Given the description of an element on the screen output the (x, y) to click on. 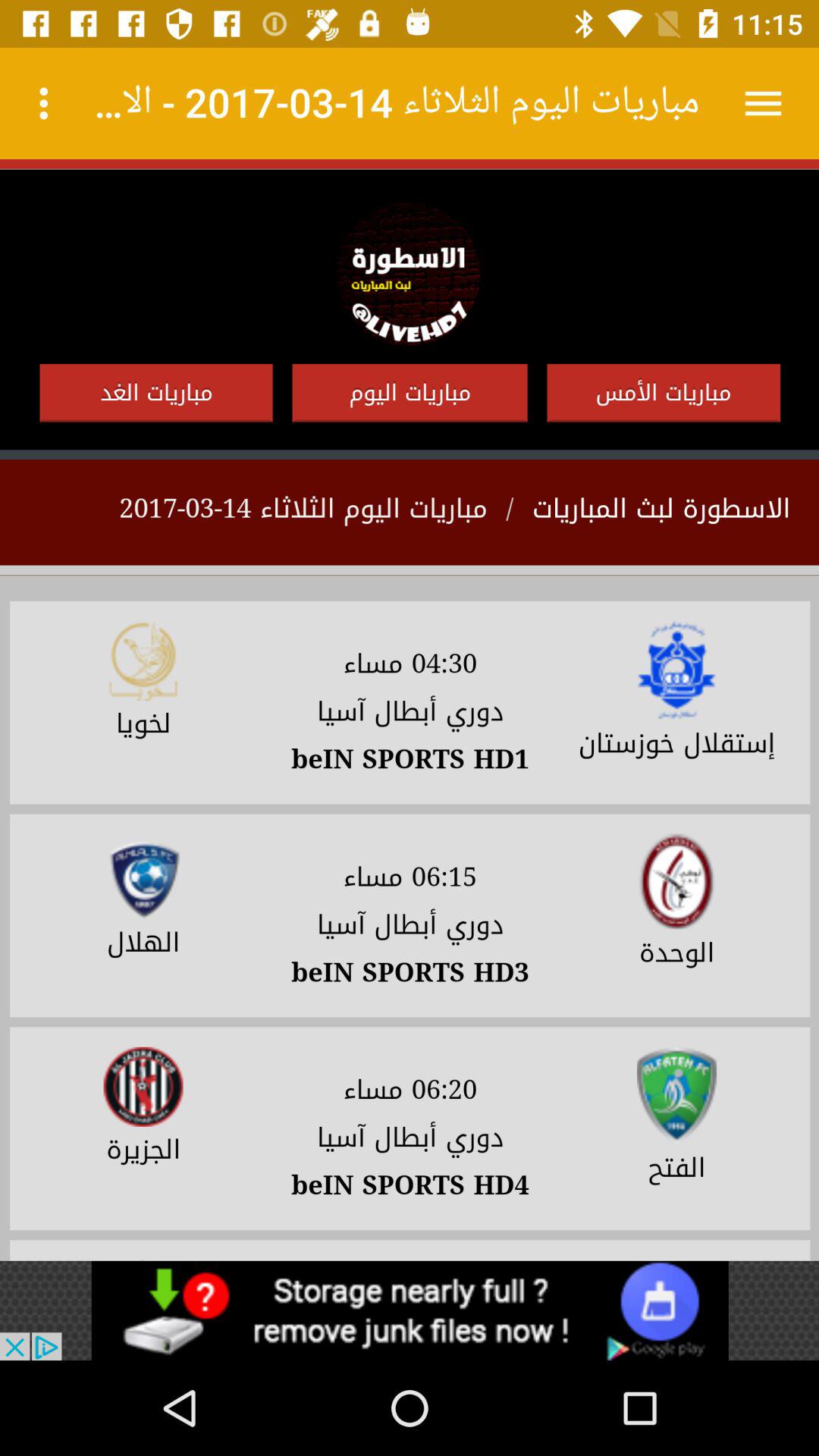
the option shows the information about the storage (409, 1310)
